Given the description of an element on the screen output the (x, y) to click on. 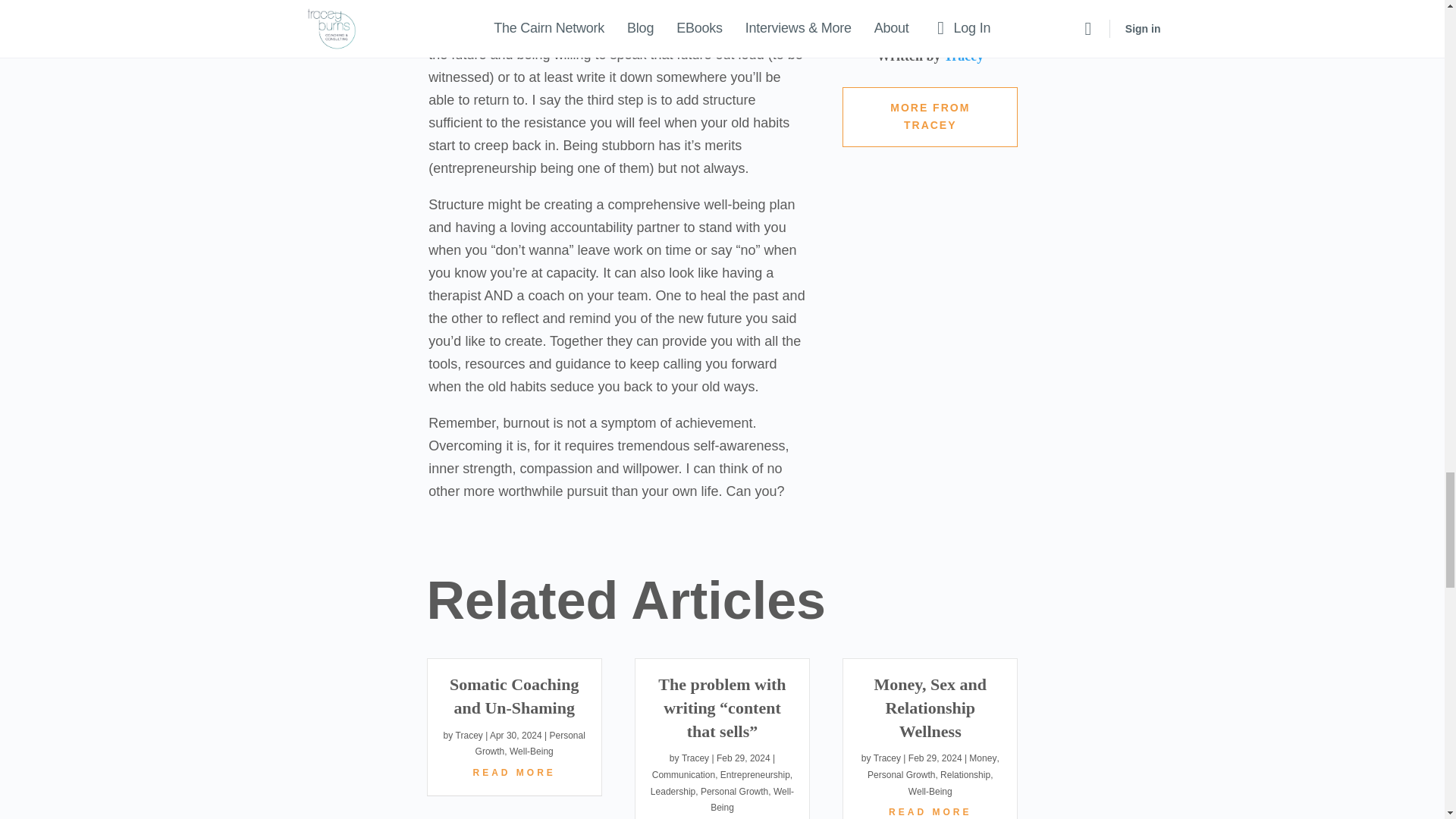
MORE FROM TRACEY (930, 117)
Tracey (695, 761)
Tracey (963, 59)
Posts by Tracey (469, 739)
Somatic Coaching and Un-Shaming (514, 699)
Well-Being (531, 755)
Posts by Tracey (695, 761)
Personal Growth (530, 747)
Tracey (469, 739)
READ MORE (513, 773)
Posts by Tracey (887, 761)
